Given the description of an element on the screen output the (x, y) to click on. 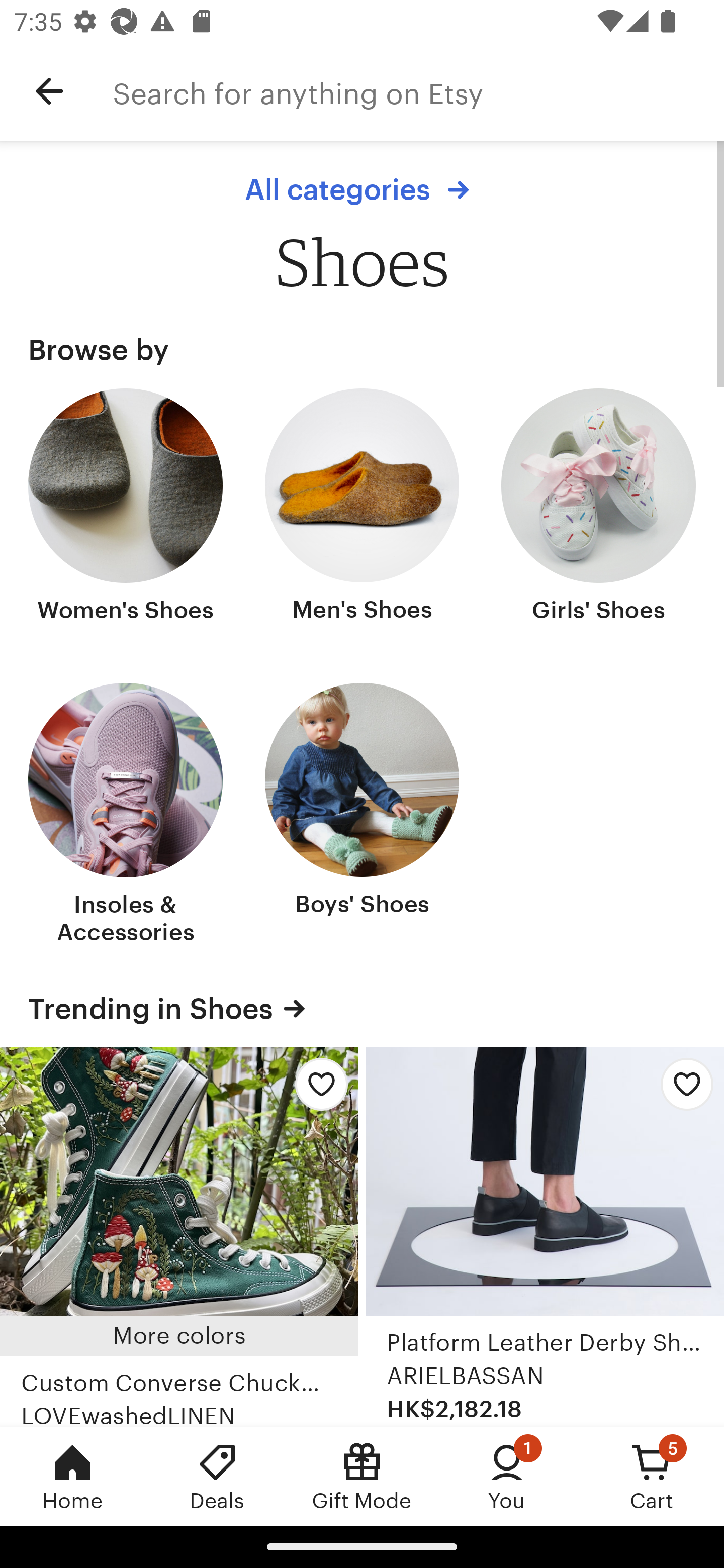
Navigate up (49, 91)
Search for anything on Etsy (418, 91)
All categories (361, 189)
Women's Shoes (125, 507)
Men's Shoes (361, 507)
Girls' Shoes (598, 507)
Insoles & Accessories (125, 815)
Boys' Shoes (361, 815)
Trending in Shoes  (361, 1008)
Deals (216, 1475)
Gift Mode (361, 1475)
You, 1 new notification You (506, 1475)
Cart, 5 new notifications Cart (651, 1475)
